Given the description of an element on the screen output the (x, y) to click on. 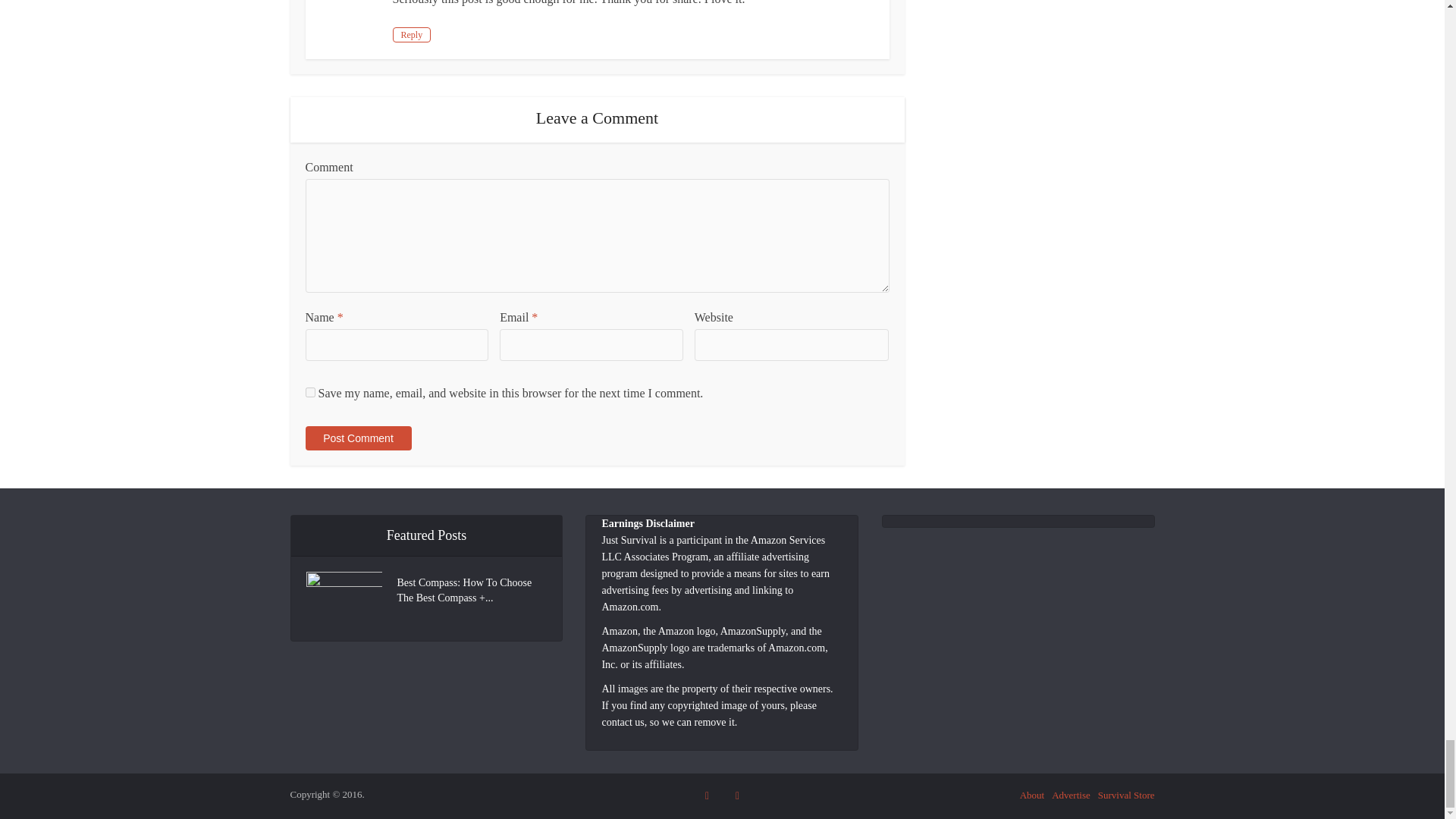
yes (309, 392)
Post Comment (357, 437)
